Given the description of an element on the screen output the (x, y) to click on. 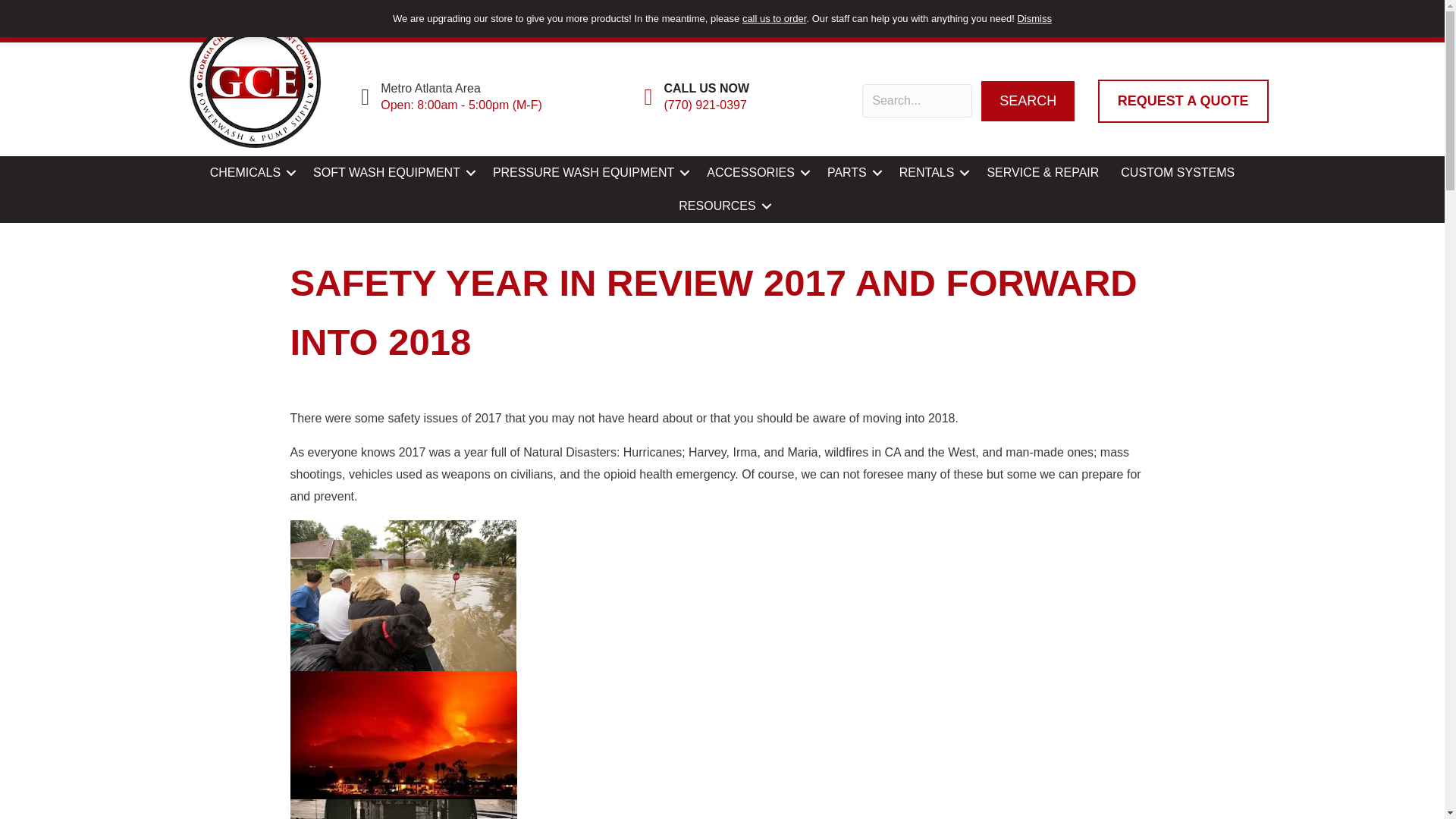
FEATURED PRODUCTS (529, 20)
SOFT WASH EQUIPMENT (391, 172)
GCE Header Logo (255, 81)
CHEMICALS (250, 172)
REQUEST A QUOTE (1182, 100)
FEATURED PRODUCTS (524, 20)
PRESSURE WASH EQUIPMENT (588, 172)
MY WISHLIST (939, 17)
SHOPPING CART (1158, 17)
MY ACCOUNT (721, 17)
SEARCH (1027, 100)
